Given the description of an element on the screen output the (x, y) to click on. 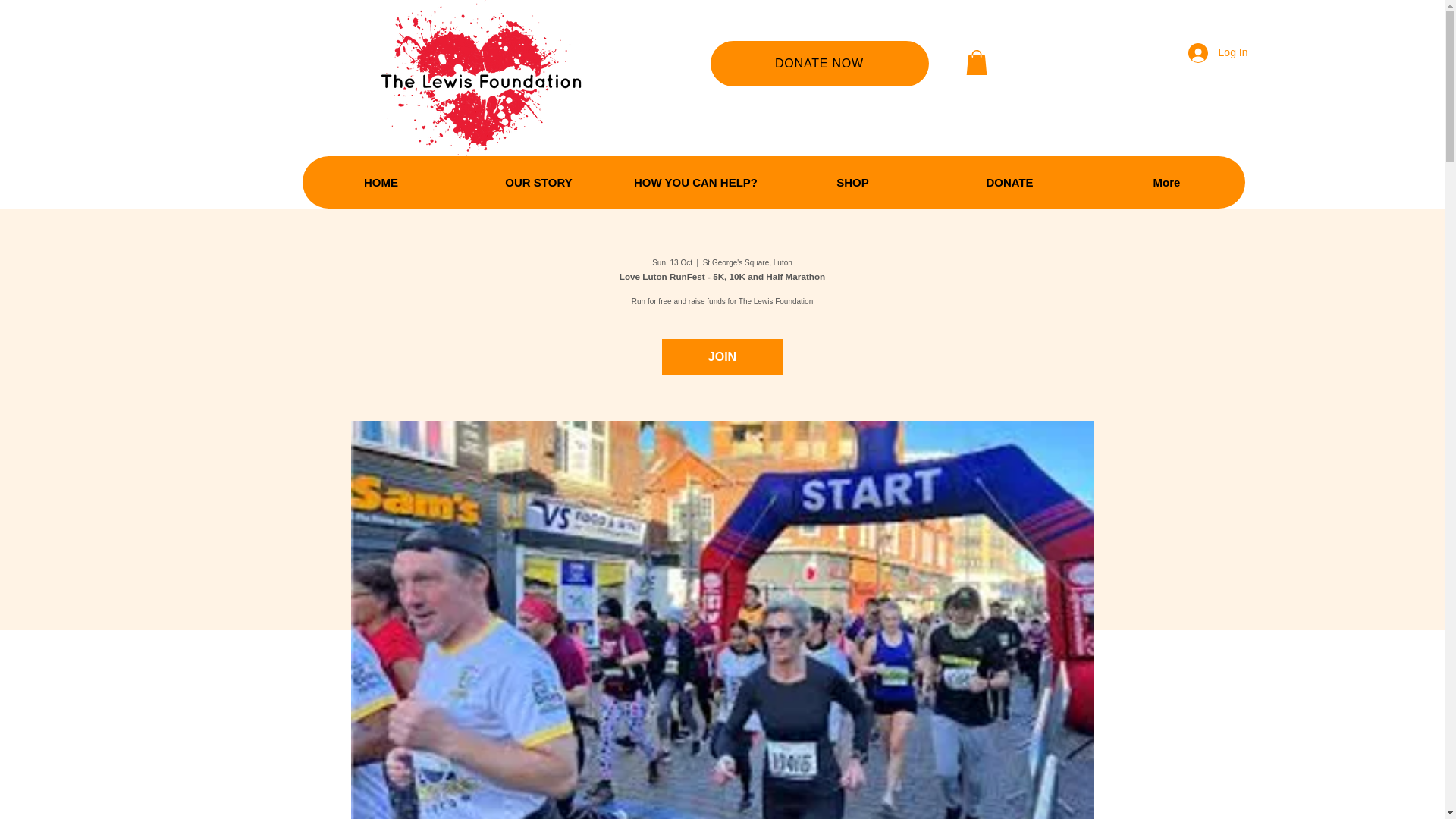
JOIN (722, 357)
HOME (380, 182)
SHOP (851, 182)
HOW YOU CAN HELP? (695, 182)
Log In (1218, 52)
DONATE NOW (819, 63)
OUR STORY (537, 182)
DONATE (1009, 182)
